Given the description of an element on the screen output the (x, y) to click on. 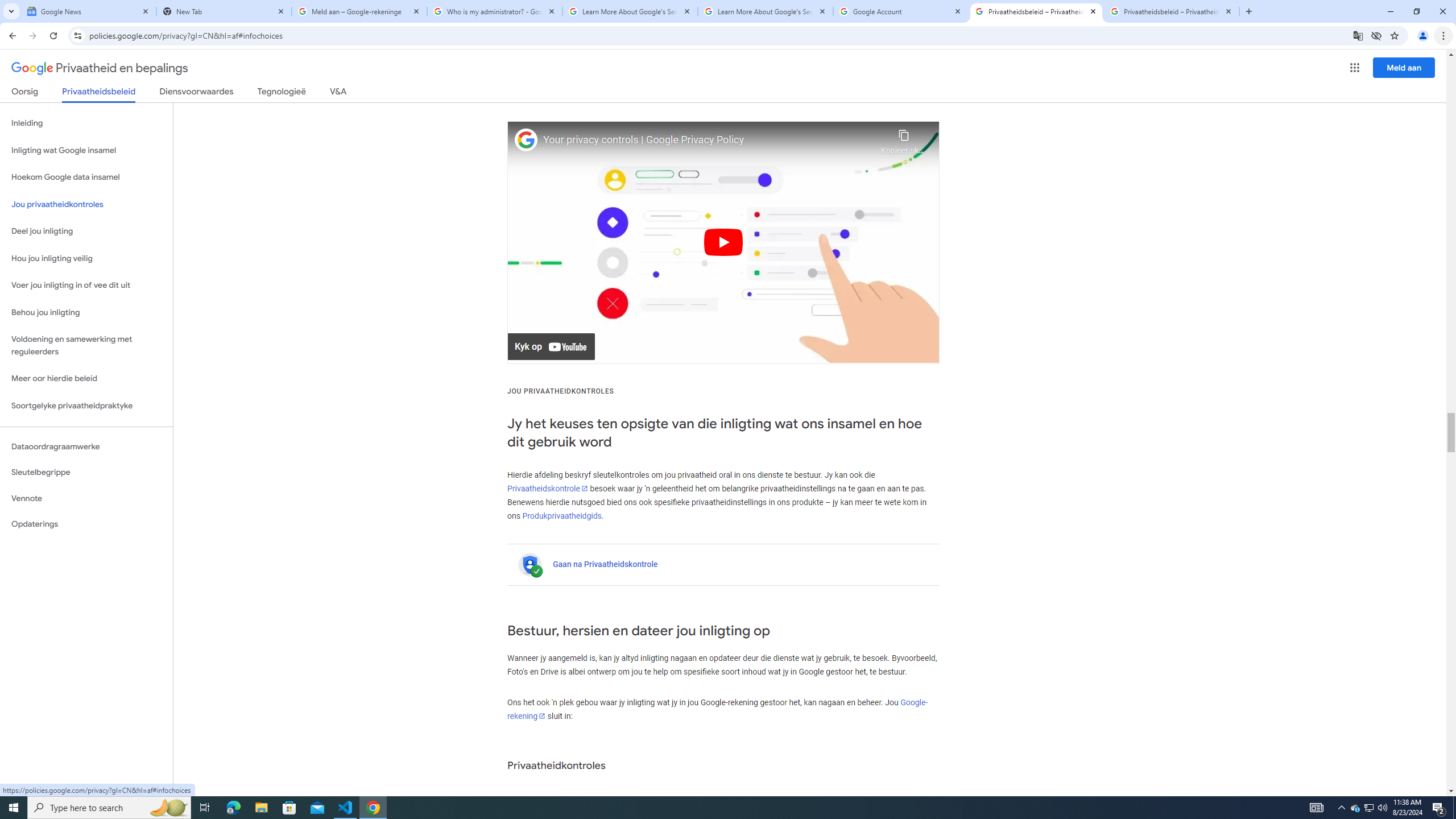
Behou jou inligting (86, 312)
Oorsig (25, 93)
Gaan na Privaatheidskontrole (605, 564)
Vennote (86, 497)
Speel (723, 242)
Produkprivaatheidgids (561, 515)
